Given the description of an element on the screen output the (x, y) to click on. 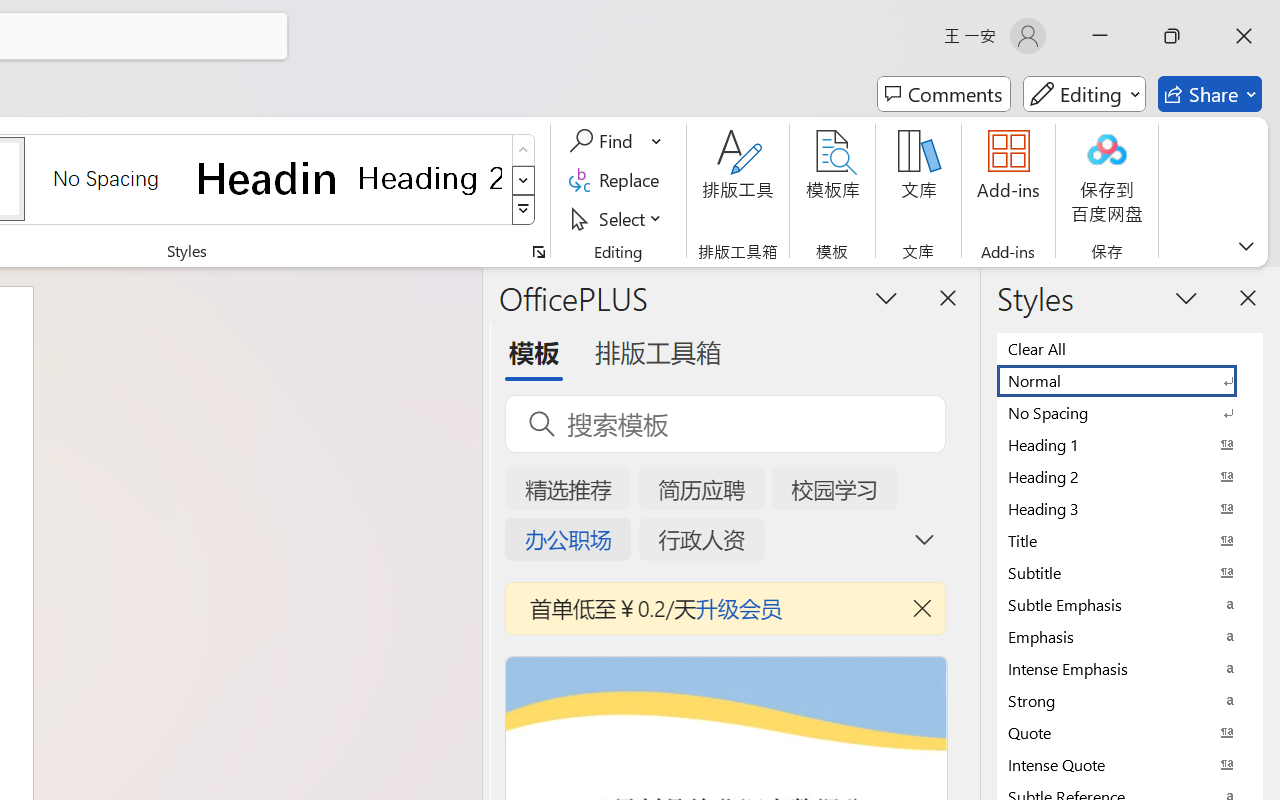
Mode (1083, 94)
Find (616, 141)
Class: NetUIImage (523, 210)
Intense Emphasis (1130, 668)
Subtle Emphasis (1130, 604)
Heading 2 (429, 178)
Row Down (523, 180)
Minimize (1099, 36)
Clear All (1130, 348)
Close (1244, 36)
